Given the description of an element on the screen output the (x, y) to click on. 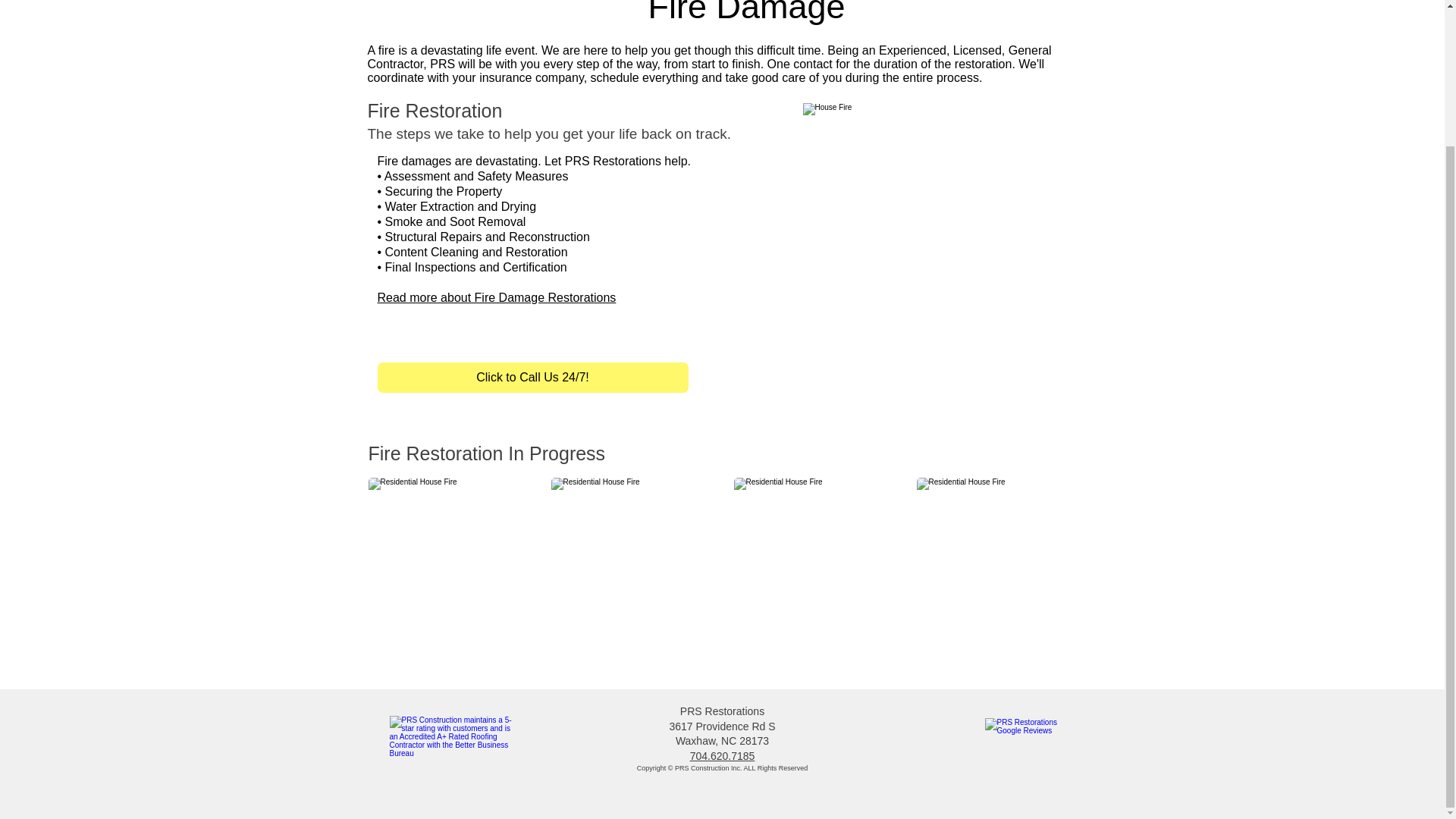
PRS Restorations Fire Damage Restoration (925, 226)
704.620.7185 (722, 756)
Read more about Fire Damage Restorations (496, 297)
